Given the description of an element on the screen output the (x, y) to click on. 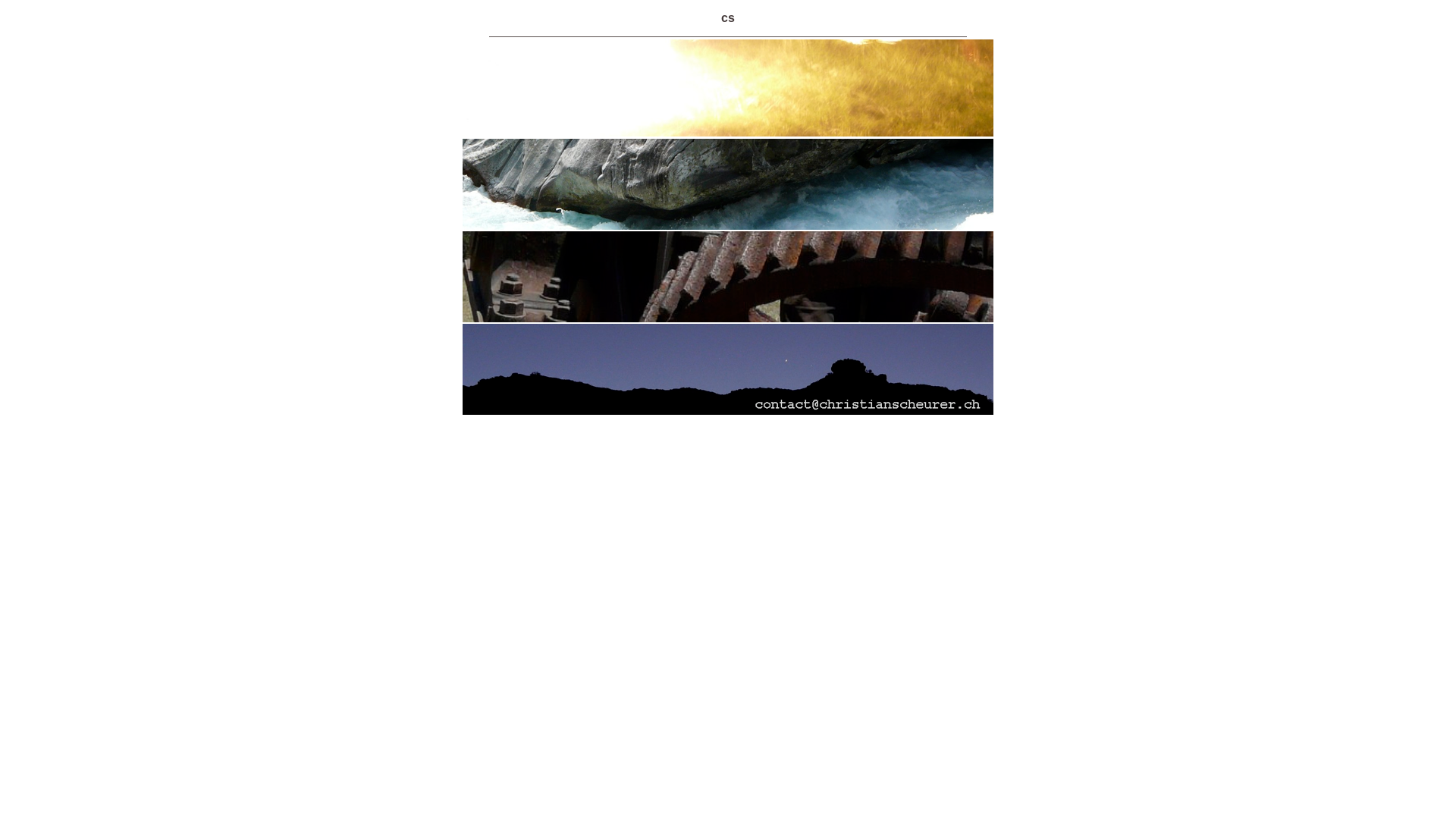
cs Element type: text (727, 17)
